Given the description of an element on the screen output the (x, y) to click on. 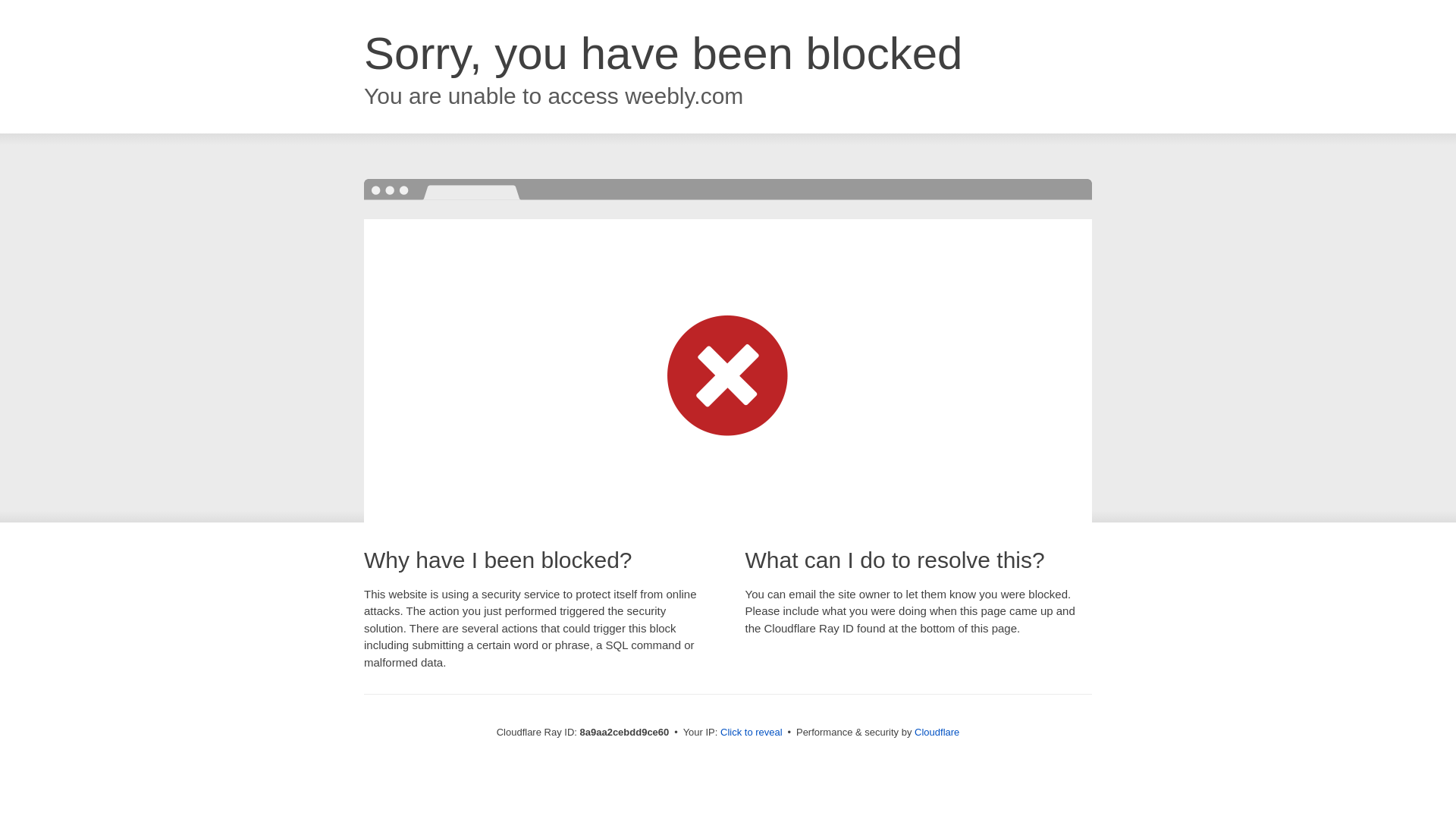
Cloudflare (936, 731)
Click to reveal (751, 732)
